Given the description of an element on the screen output the (x, y) to click on. 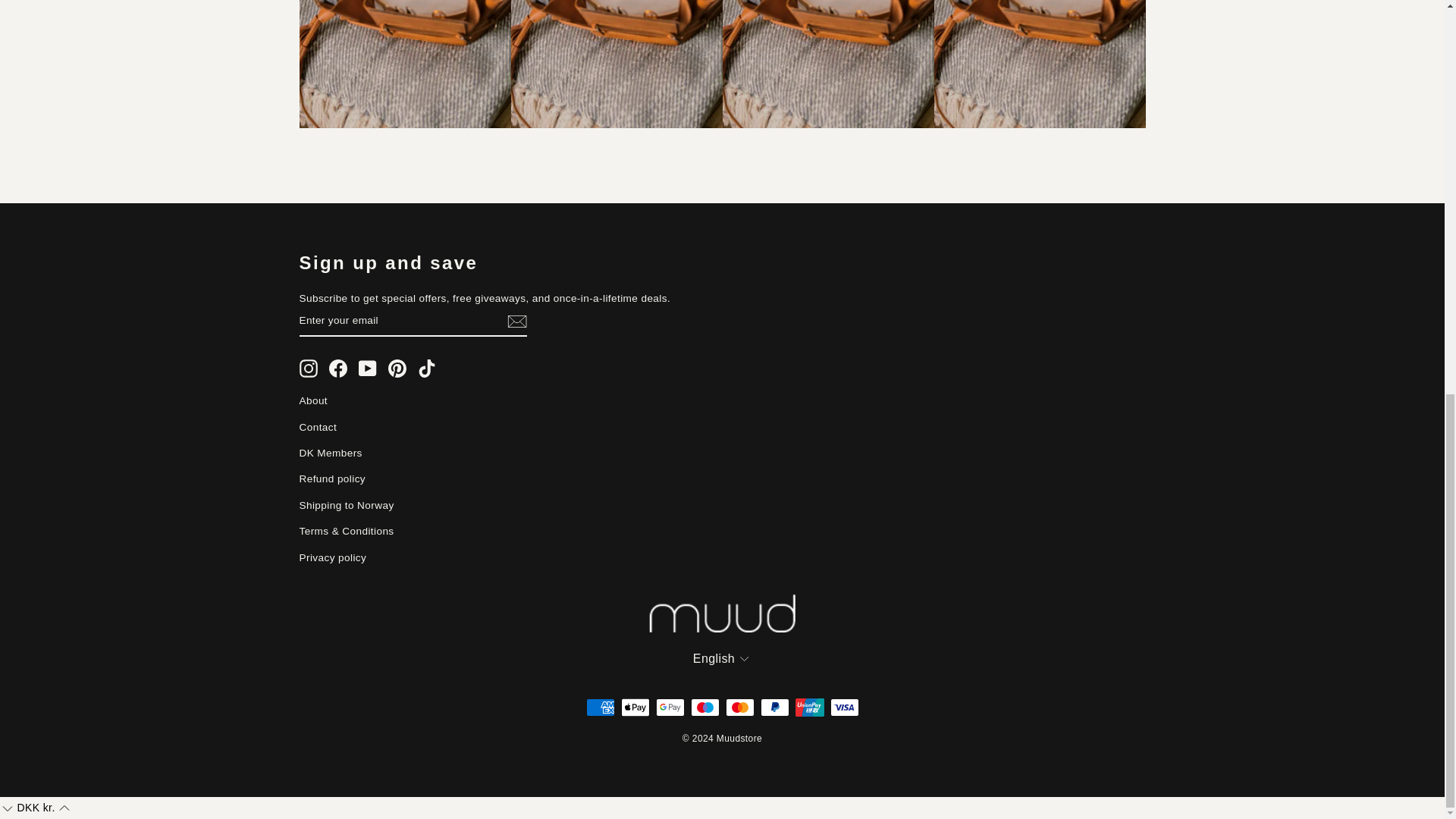
Muudstore on Instagram (307, 368)
Muudstore on Pinterest (397, 368)
Google Pay (669, 707)
Union Pay (809, 707)
Mastercard (739, 707)
Muudstore on Facebook (338, 368)
PayPal (774, 707)
Visa (844, 707)
Muudstore on TikTok (425, 368)
Apple Pay (634, 707)
